Given the description of an element on the screen output the (x, y) to click on. 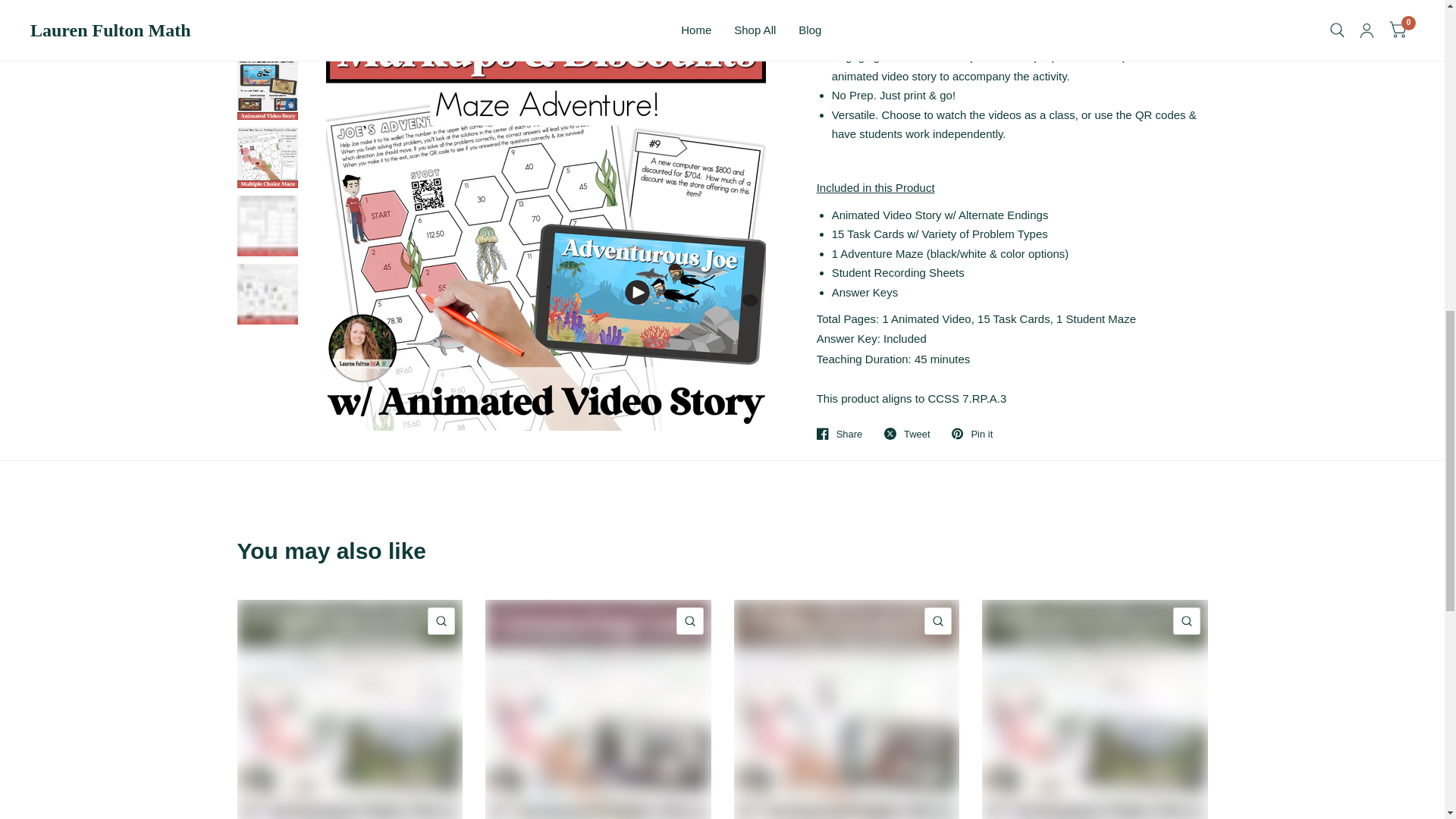
Pin it (972, 433)
Comparing Costs with Unit Rates Maze Activity for 7th Grade (597, 709)
Share (839, 433)
Tweet (906, 433)
